Given the description of an element on the screen output the (x, y) to click on. 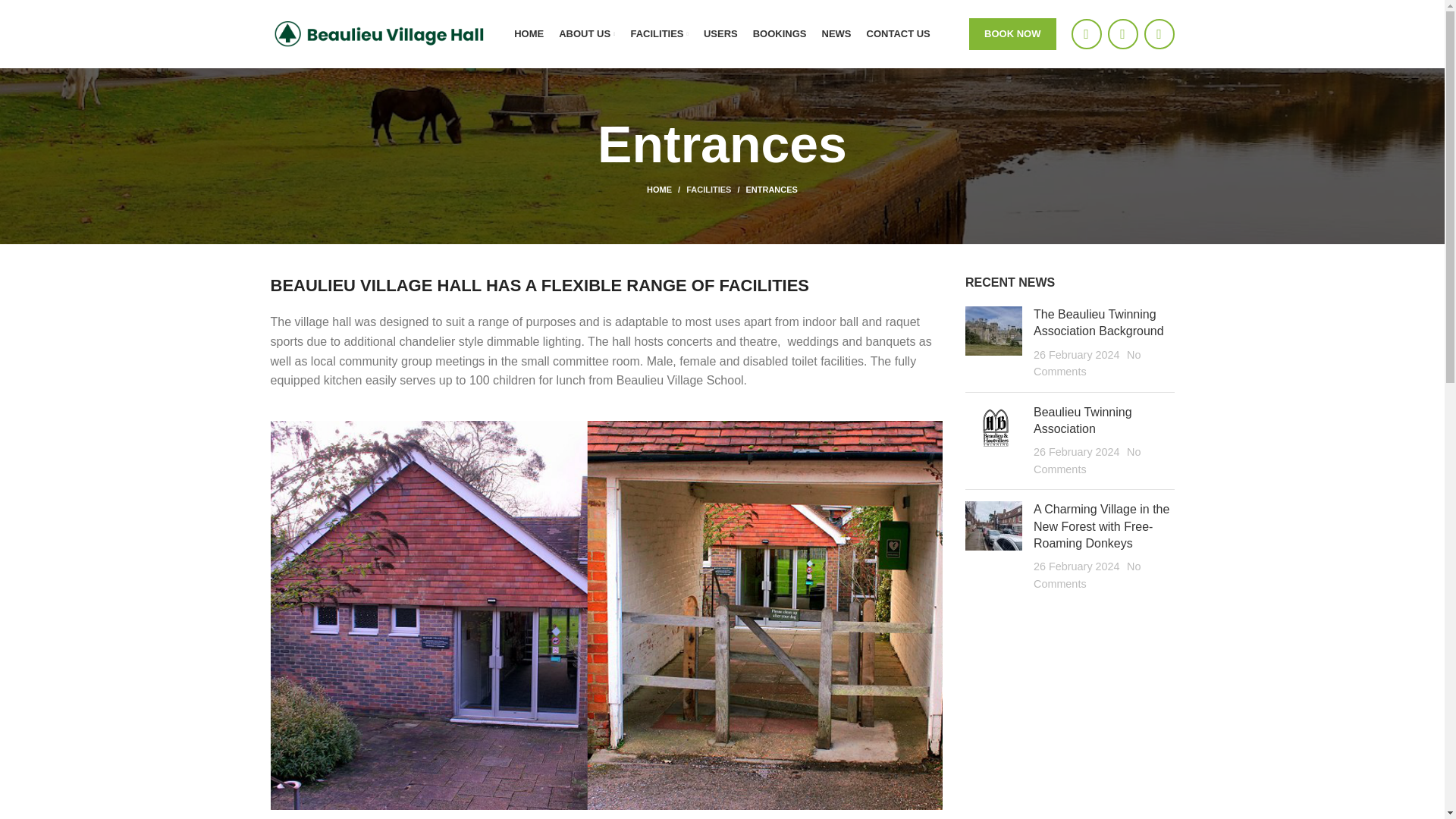
USERS (720, 33)
FACILITIES (658, 33)
BOOKINGS (779, 33)
Permalink to The Beaulieu Twinning Association Background (1098, 322)
Beaulieu Twinning Association (1082, 419)
No Comments (1086, 574)
HOME (665, 189)
The Beaulieu Twinning Association Background (1098, 322)
NEWS (836, 33)
Permalink to Beaulieu Twinning Association (1082, 419)
FACILITIES (707, 189)
BOOK NOW (1012, 33)
No Comments (1086, 362)
